Given the description of an element on the screen output the (x, y) to click on. 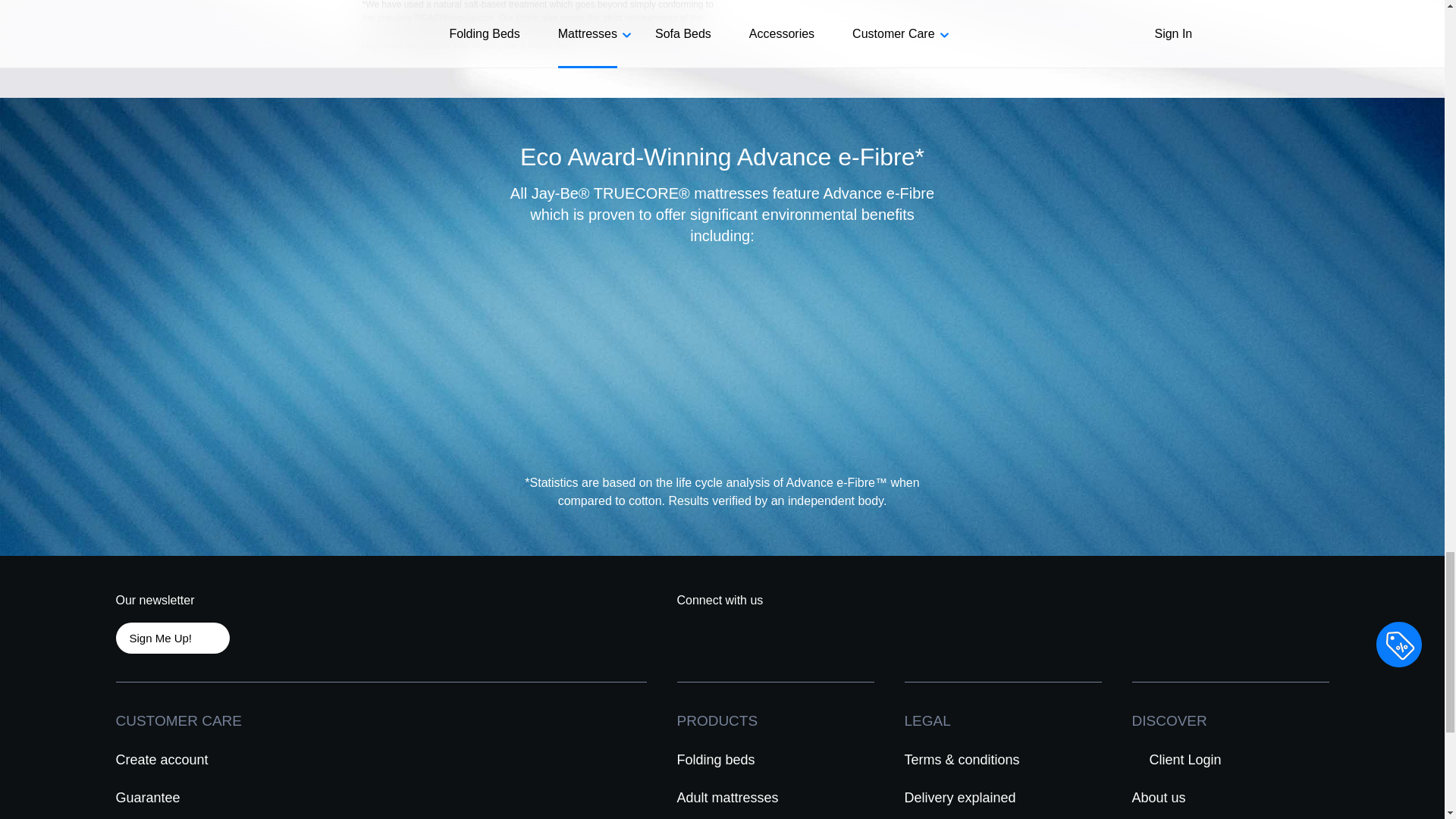
Sign Me Up! (171, 637)
Create account (161, 759)
Guarantee (148, 796)
Folding beds (716, 759)
